Given the description of an element on the screen output the (x, y) to click on. 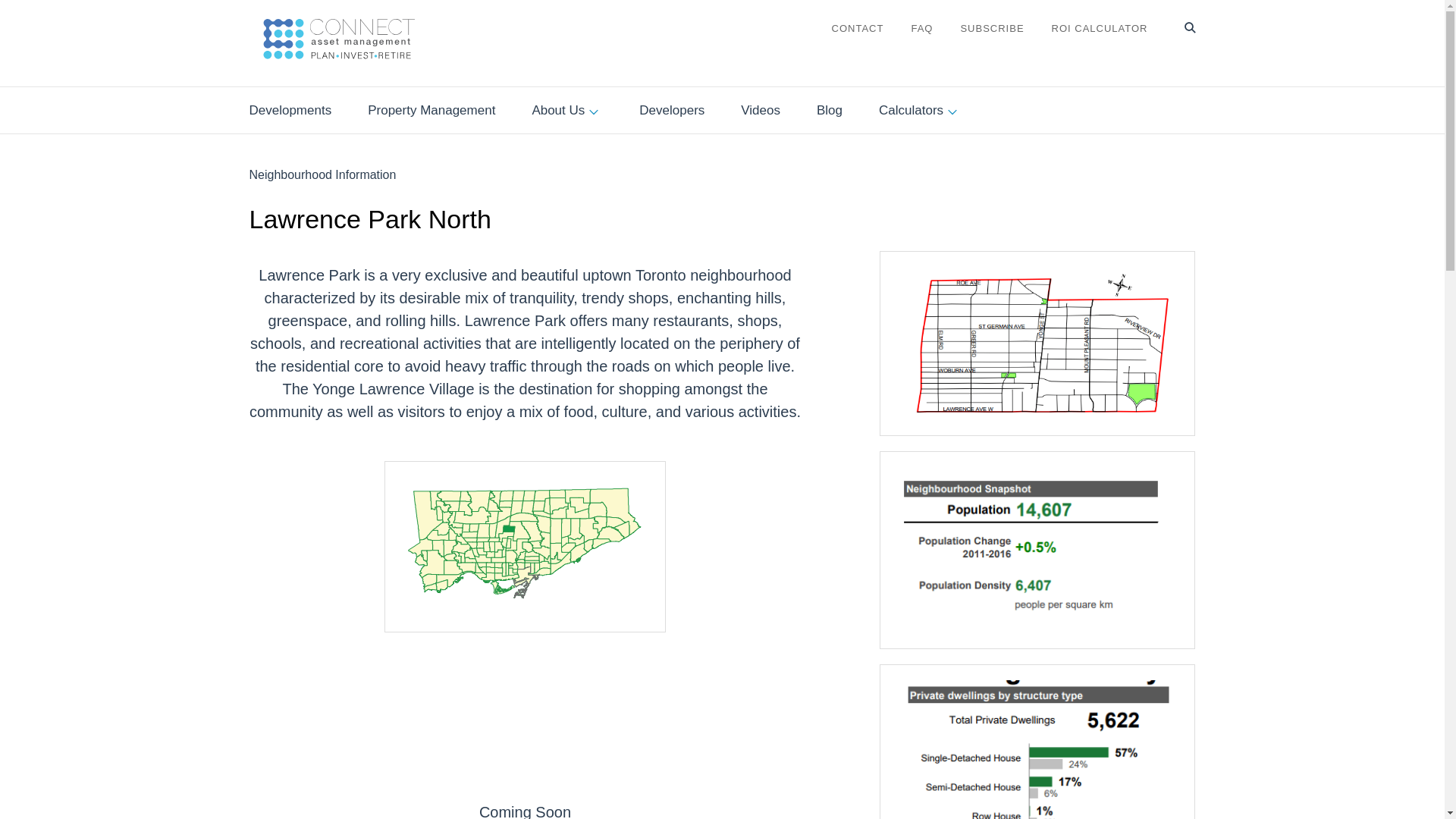
About Us (566, 110)
Developments (289, 110)
Property Management (431, 110)
ROI CALCULATOR (1099, 28)
SUBSCRIBE (991, 28)
Developers (671, 110)
Calculators (919, 110)
CONTACT (857, 28)
FAQ (922, 28)
